Given the description of an element on the screen output the (x, y) to click on. 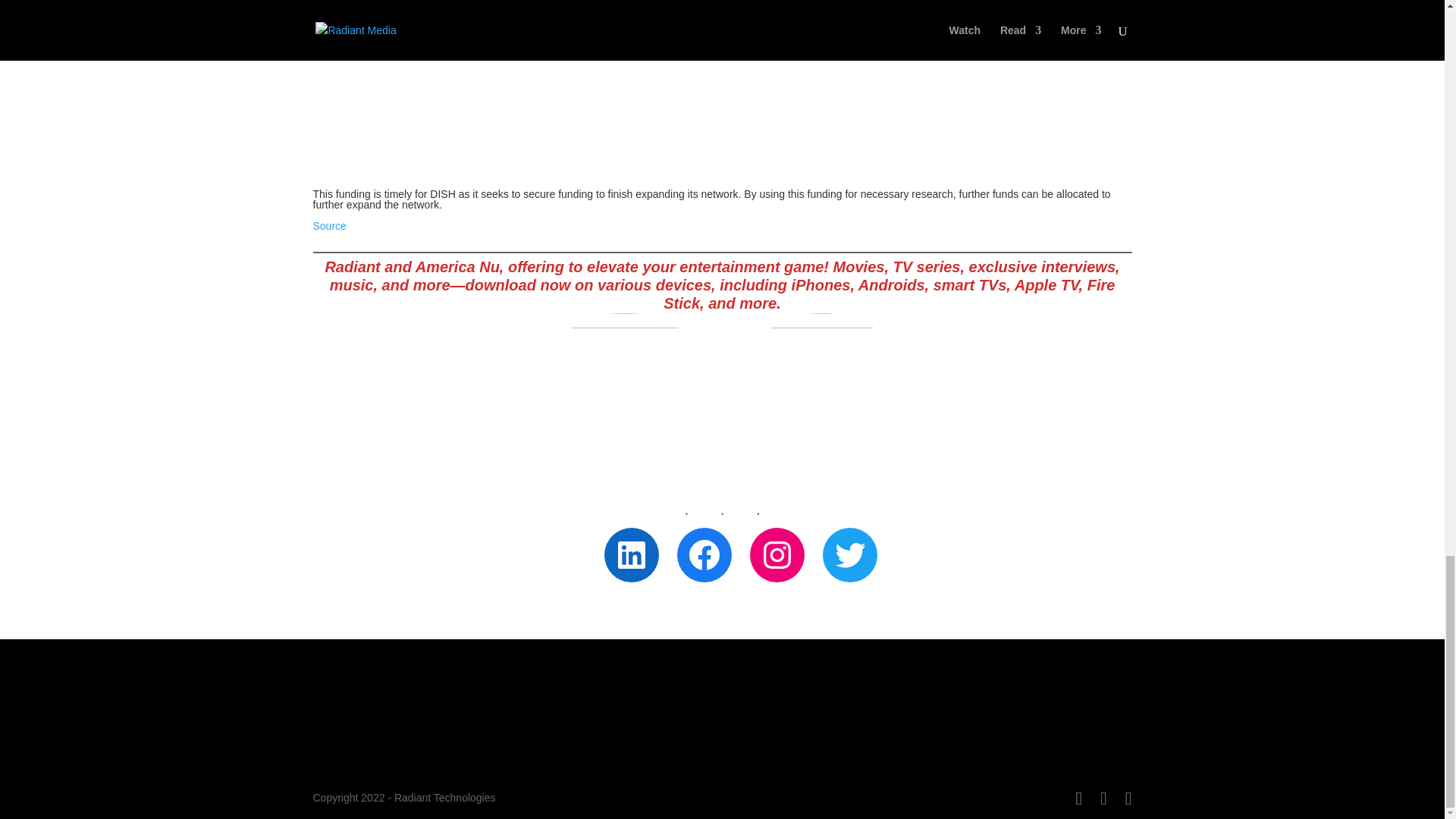
Instagram (776, 554)
Twitter (849, 554)
Facebook (703, 554)
Source (329, 225)
LinkedIn (631, 554)
